Given the description of an element on the screen output the (x, y) to click on. 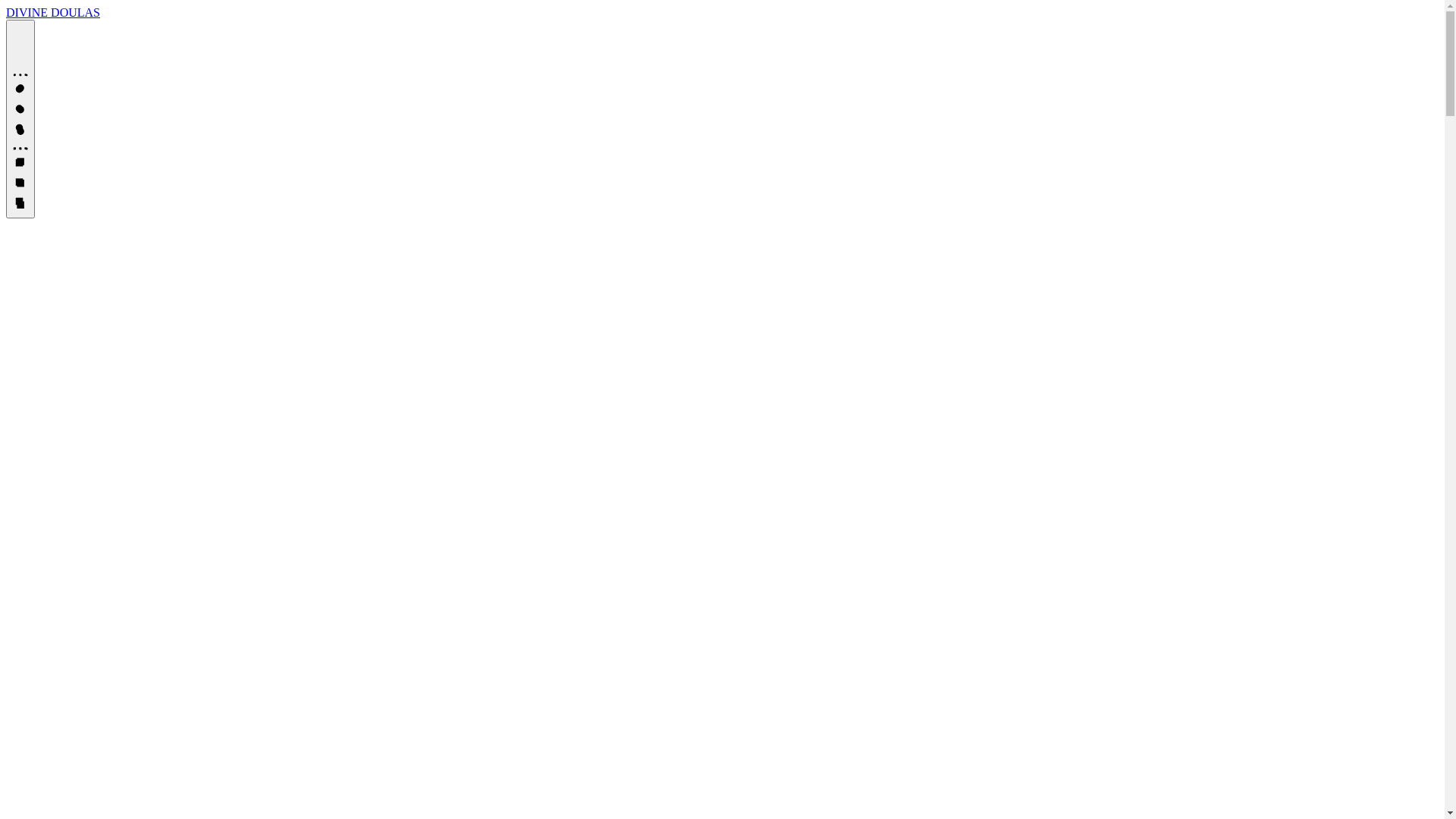
DIVINE DOULAS Element type: text (53, 12)
